Given the description of an element on the screen output the (x, y) to click on. 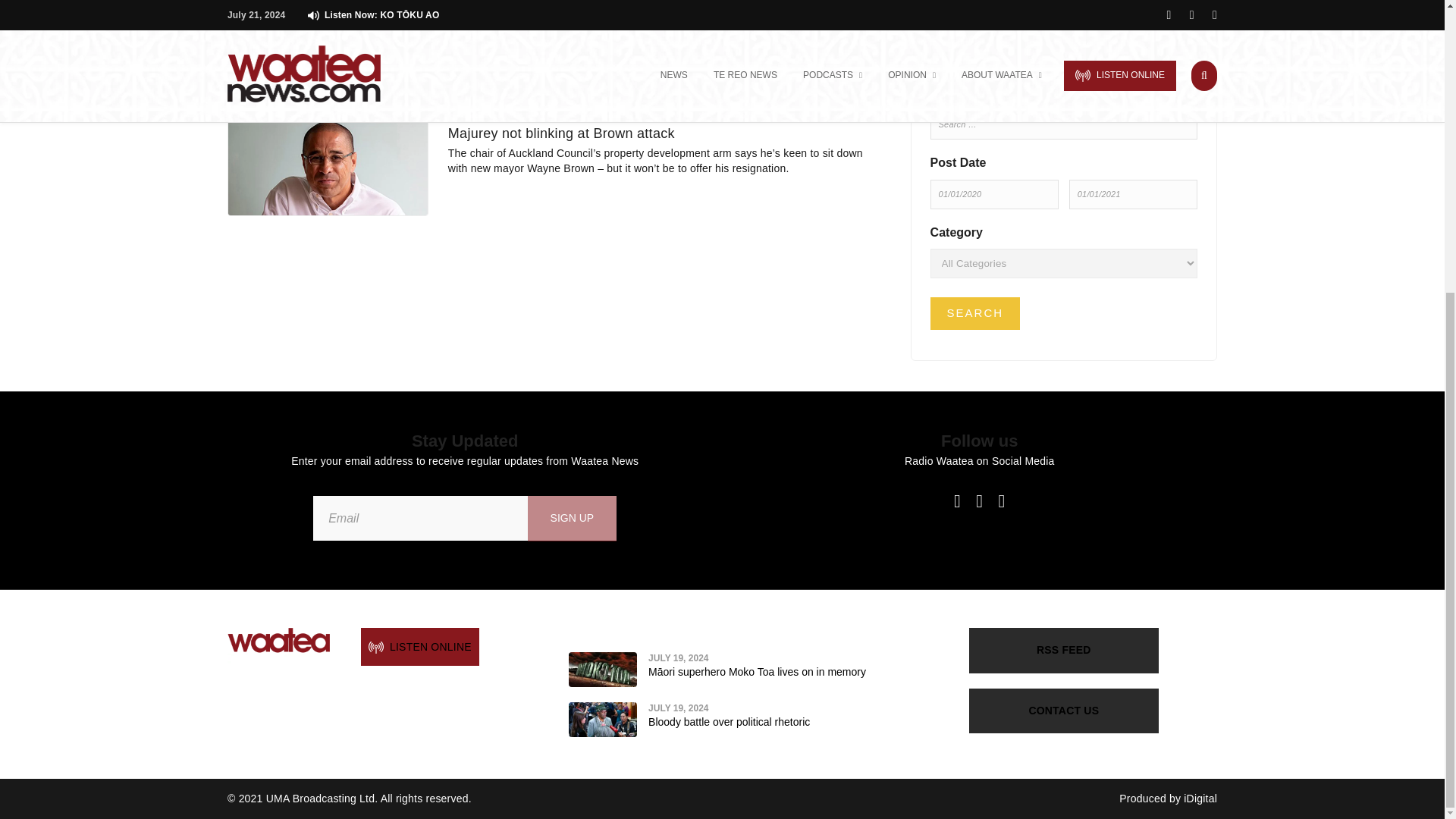
Majurey not blinking at Brown attack (561, 133)
Search (975, 313)
